Given the description of an element on the screen output the (x, y) to click on. 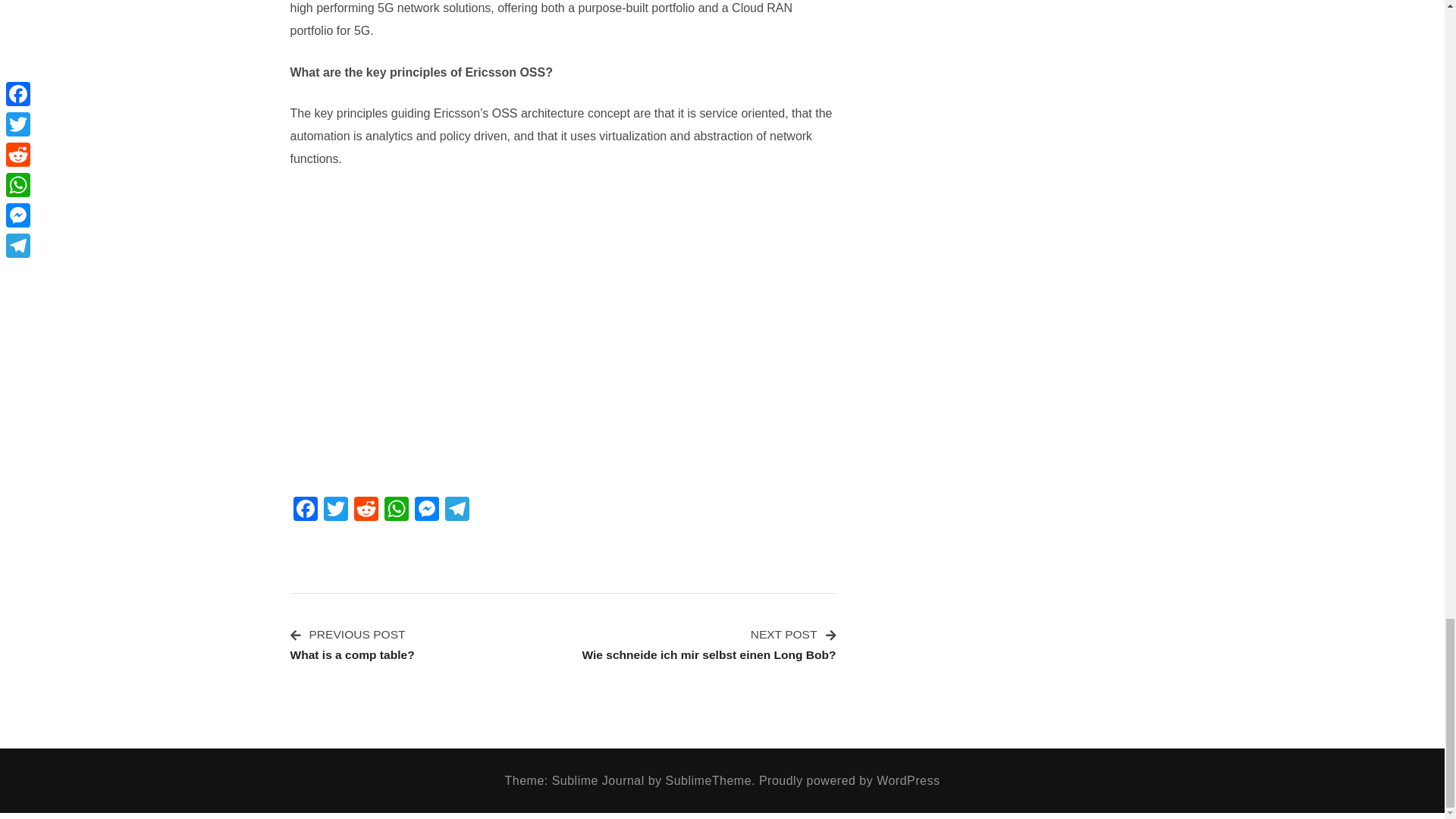
Telegram (456, 510)
Facebook (707, 643)
Twitter (304, 510)
WhatsApp (335, 510)
Telegram (395, 510)
Facebook (456, 510)
Twitter (304, 510)
WhatsApp (335, 510)
Reddit (395, 510)
Messenger (365, 510)
Messenger (425, 510)
Reddit (351, 643)
